Given the description of an element on the screen output the (x, y) to click on. 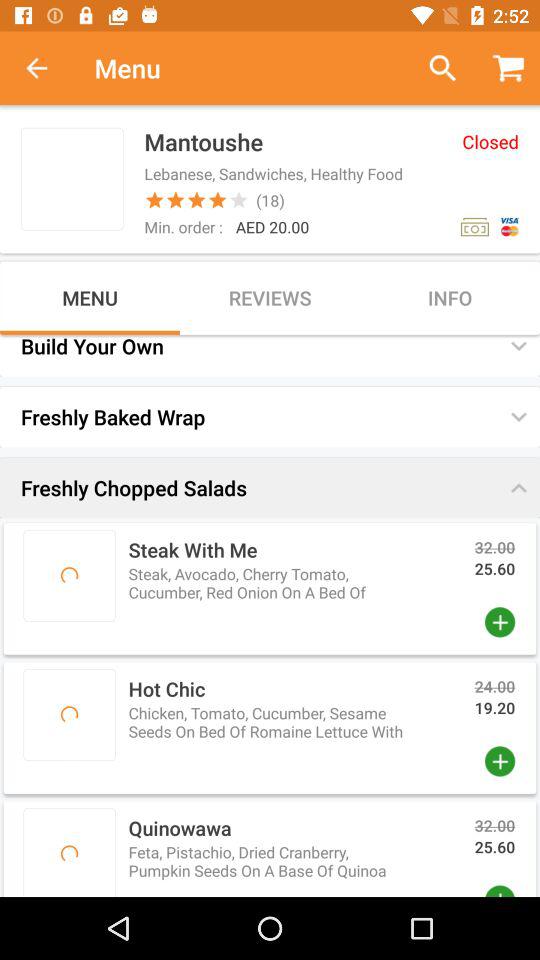
select the icon which is below closed (474, 226)
select the button which is above 3200 (518, 487)
